Given the description of an element on the screen output the (x, y) to click on. 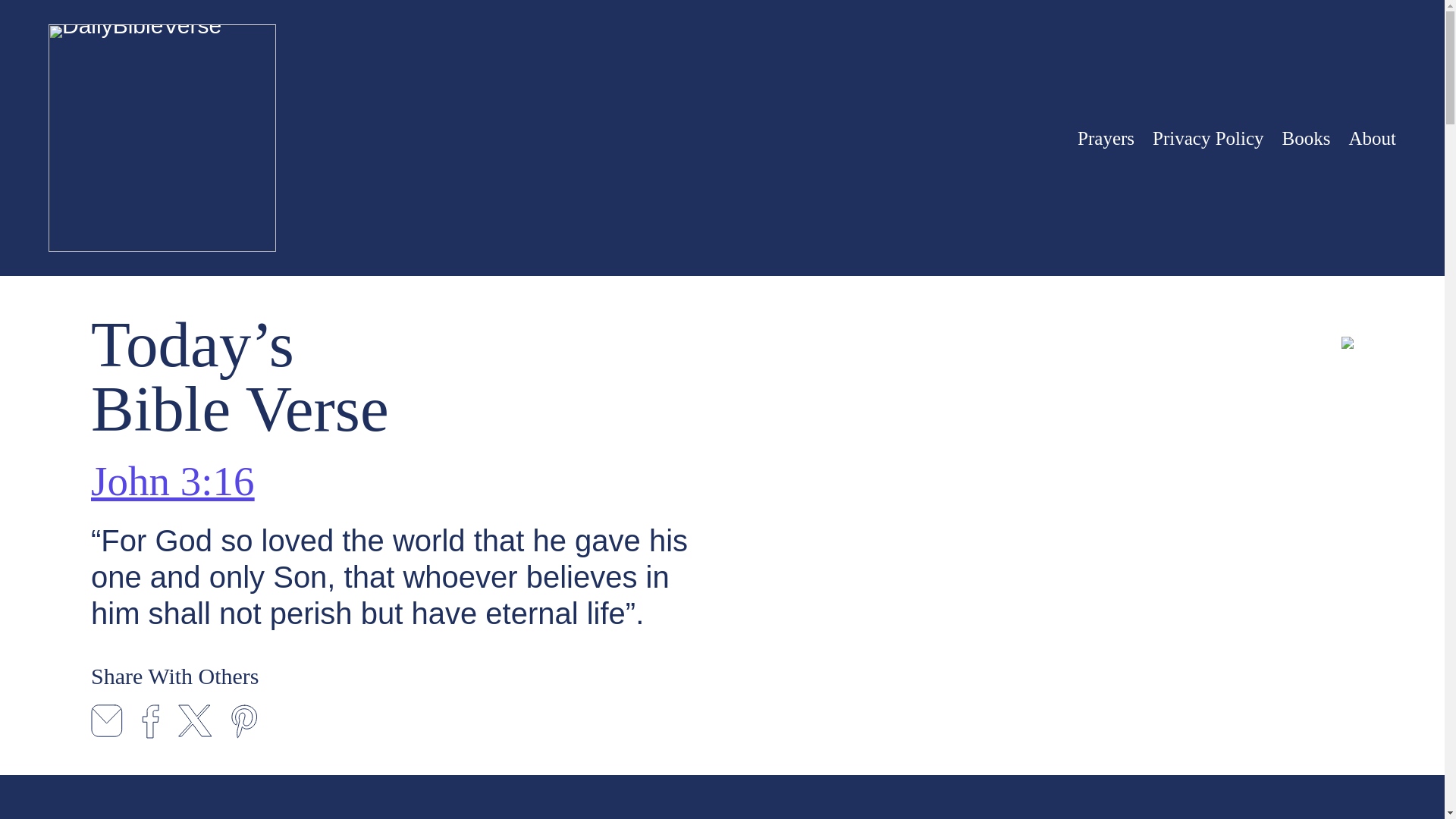
Privacy Policy (1208, 137)
Books (1306, 137)
Prayers (1105, 137)
About (1372, 137)
John 3:16 (171, 480)
